Given the description of an element on the screen output the (x, y) to click on. 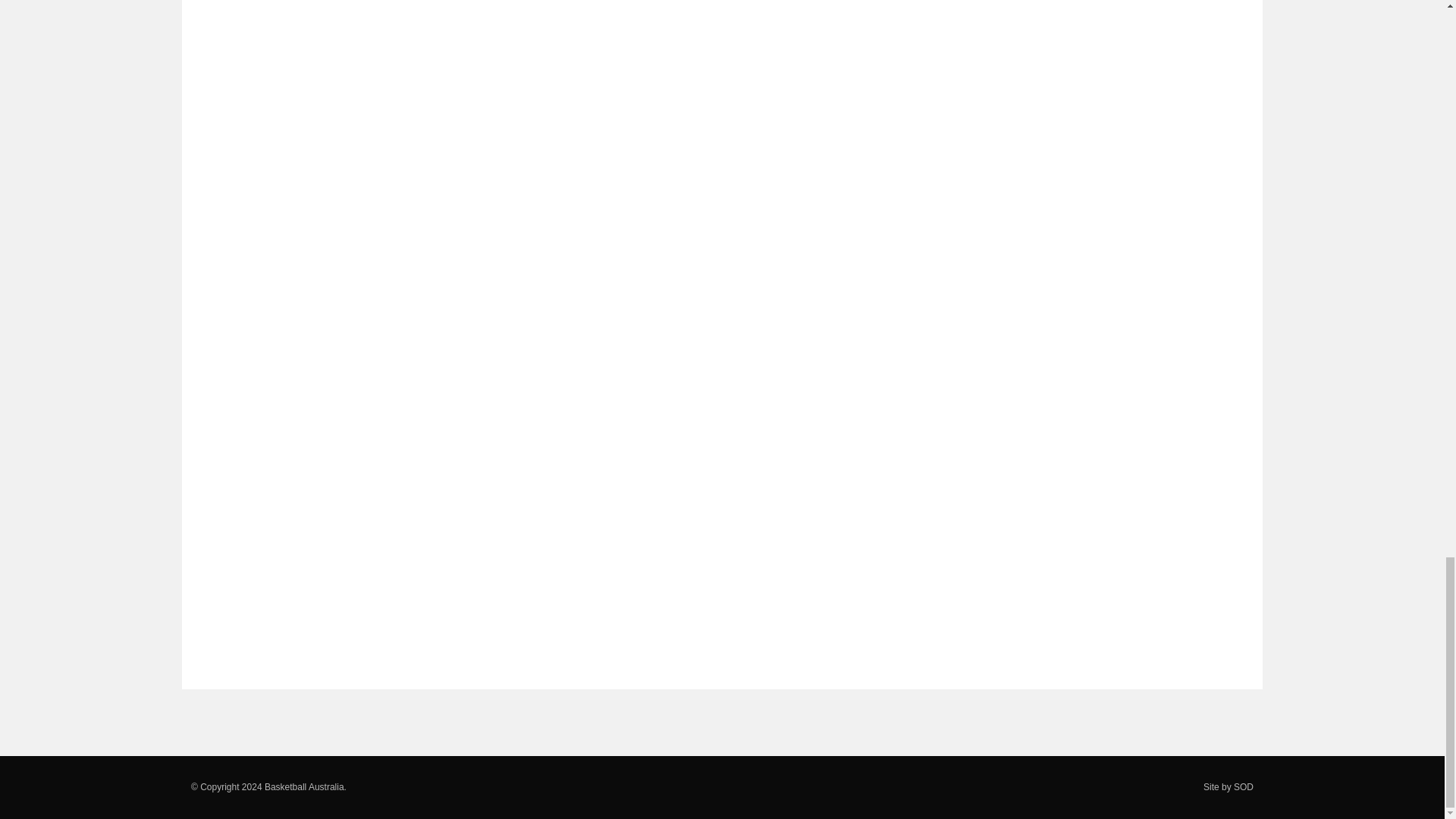
Site by SOD (1228, 787)
